Given the description of an element on the screen output the (x, y) to click on. 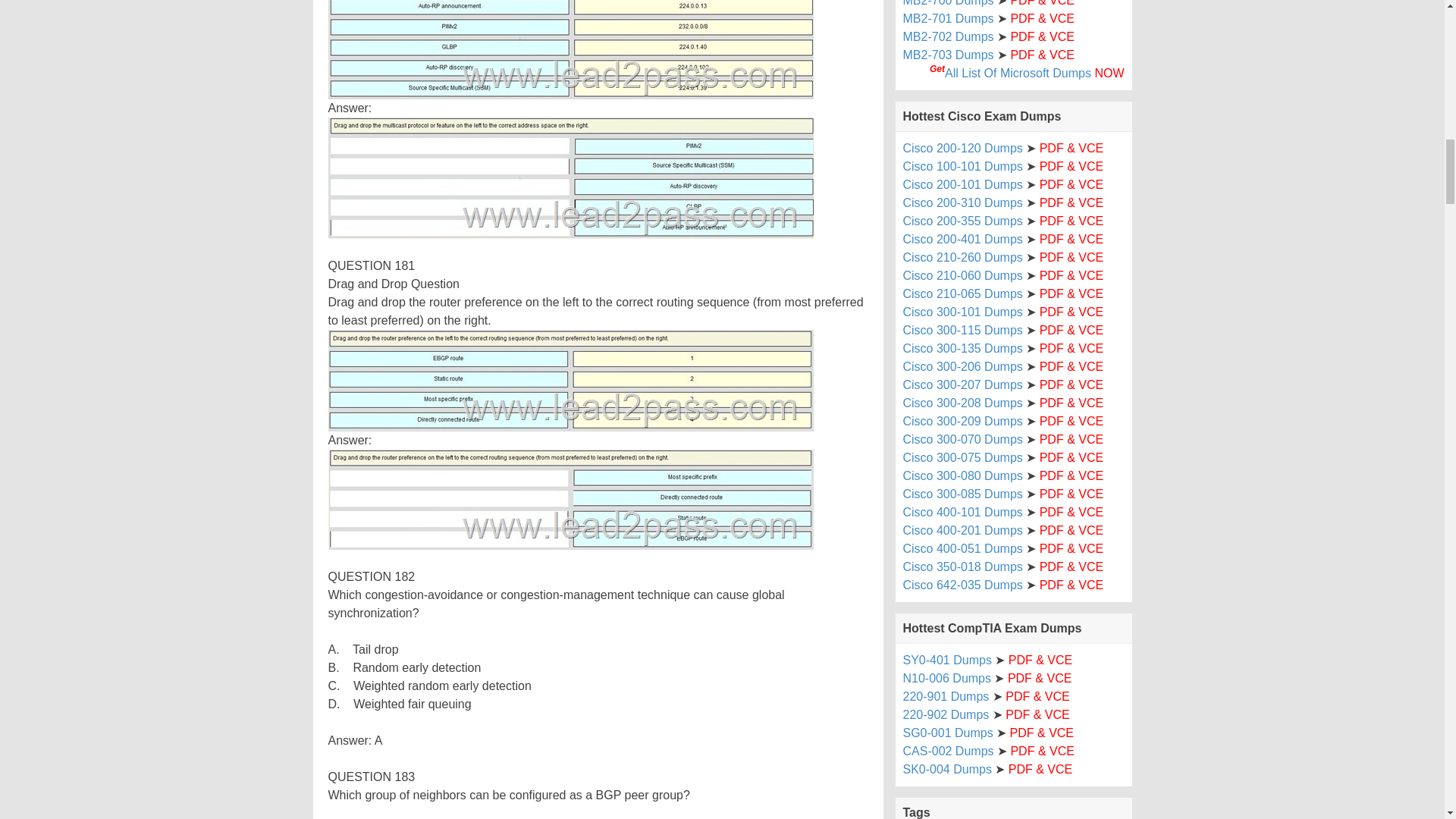
1801 (569, 49)
1811 (569, 380)
1802 (569, 178)
1812 (569, 499)
